Given the description of an element on the screen output the (x, y) to click on. 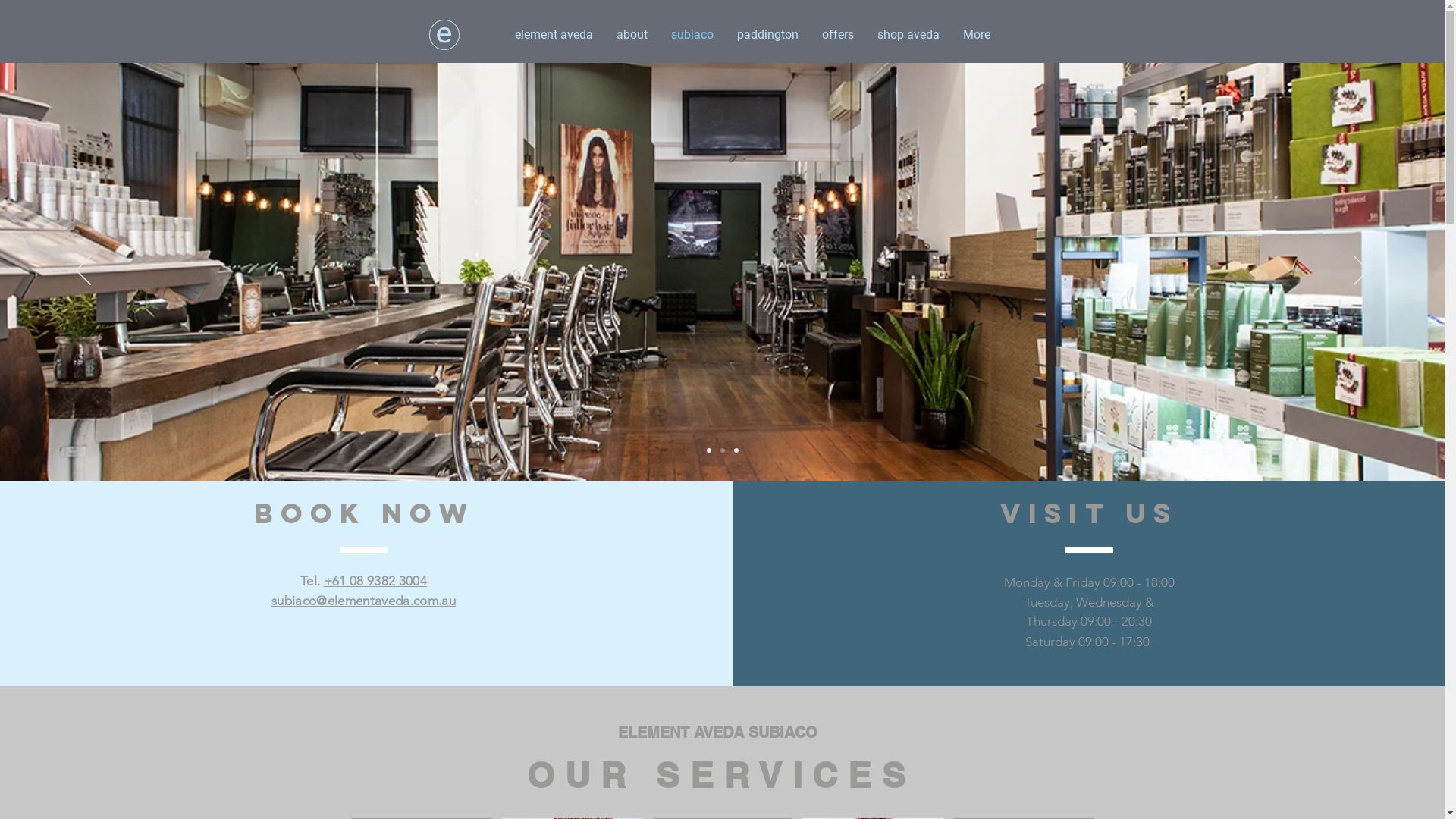
paddington Element type: text (766, 34)
subiaco@elementaveda.com.au Element type: text (363, 600)
element aveda Element type: text (553, 34)
offers Element type: text (837, 34)
subiaco Element type: text (691, 34)
+61 08 9382 3004 Element type: text (374, 580)
about Element type: text (631, 34)
BOOK NOW Element type: text (364, 514)
shop aveda Element type: text (907, 34)
